Given the description of an element on the screen output the (x, y) to click on. 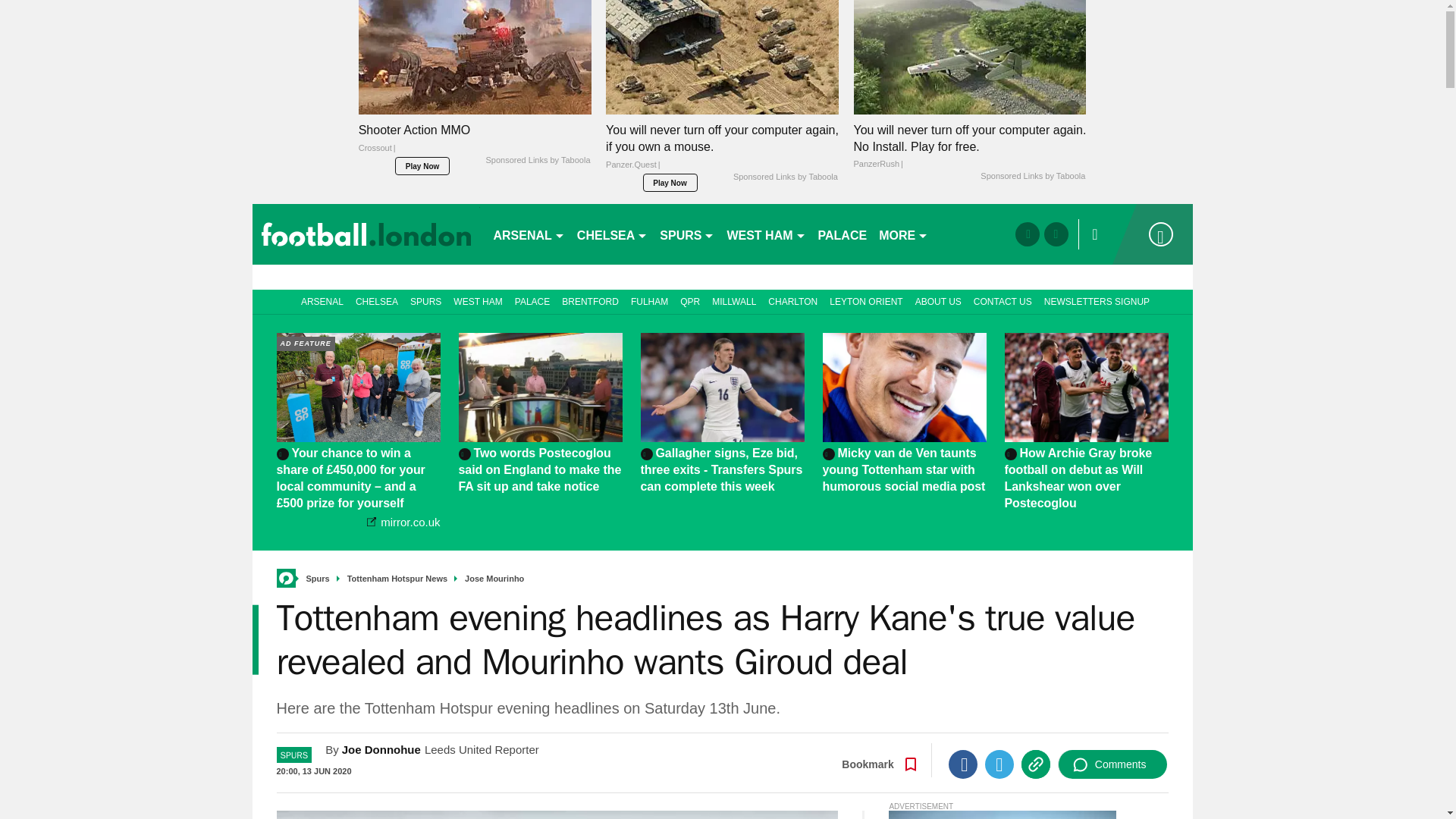
Sponsored Links by Taboola (1031, 176)
facebook (1026, 233)
Shooter Action MMO (474, 57)
CHELSEA (611, 233)
Comments (1112, 764)
Facebook (962, 764)
twitter (1055, 233)
Sponsored Links by Taboola (785, 176)
WEST HAM (765, 233)
SPURS (686, 233)
Play Now (670, 182)
Twitter (999, 764)
Shooter Action MMO (474, 143)
